Given the description of an element on the screen output the (x, y) to click on. 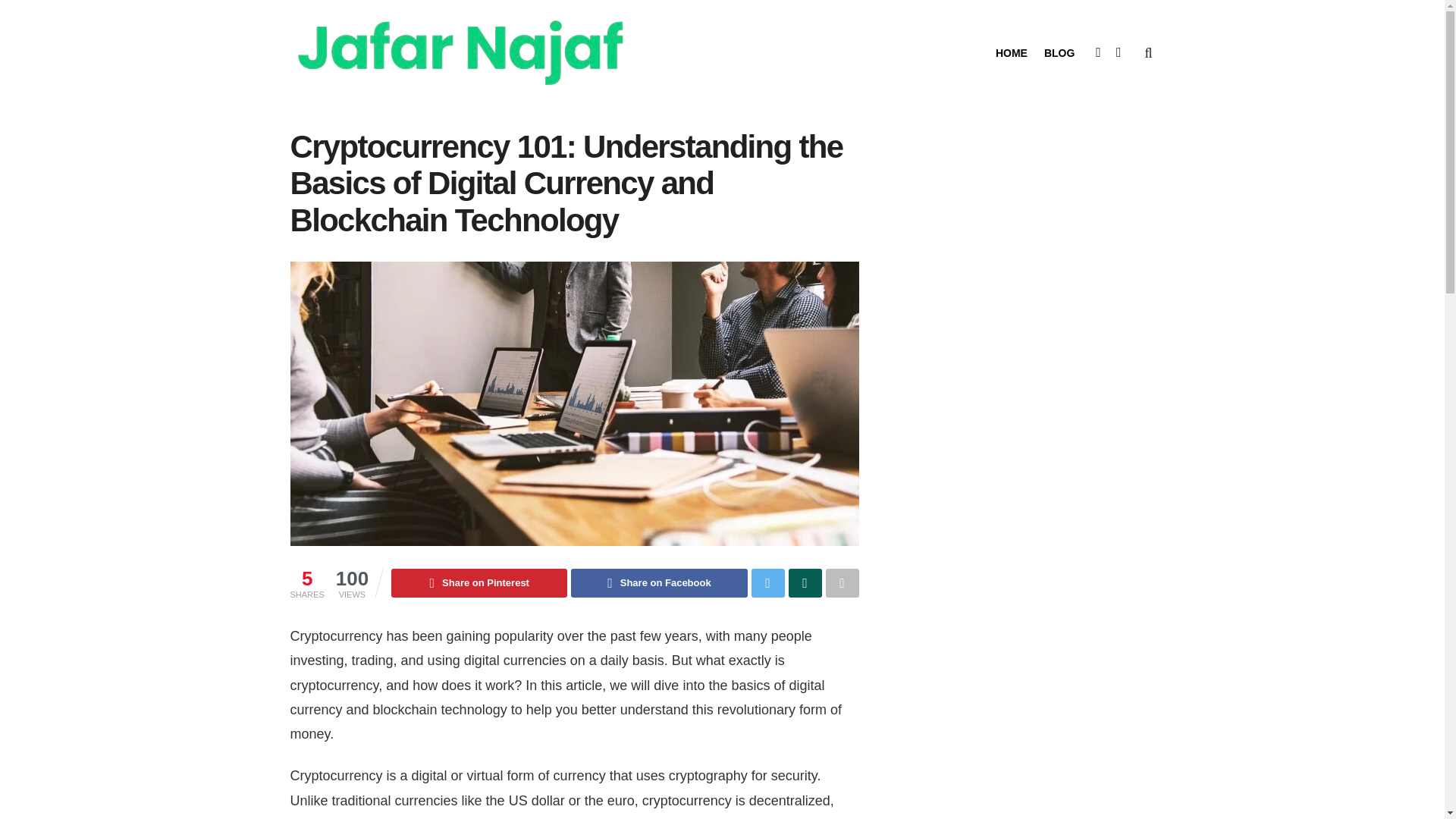
HOME (1011, 52)
Share on Facebook (658, 582)
Share on Pinterest (479, 582)
BLOG (1058, 52)
